Given the description of an element on the screen output the (x, y) to click on. 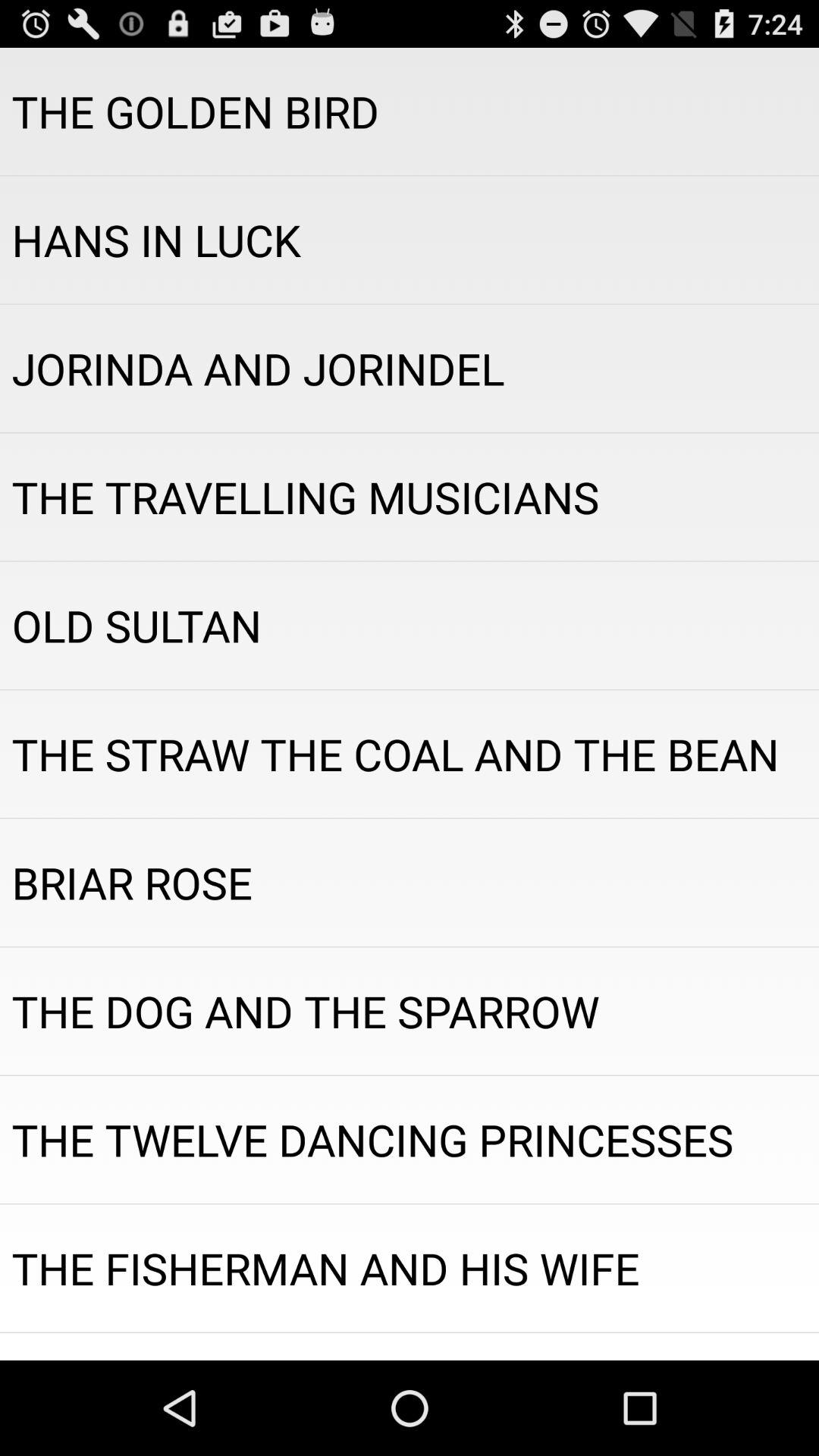
flip until jorinda and jorindel item (409, 368)
